Given the description of an element on the screen output the (x, y) to click on. 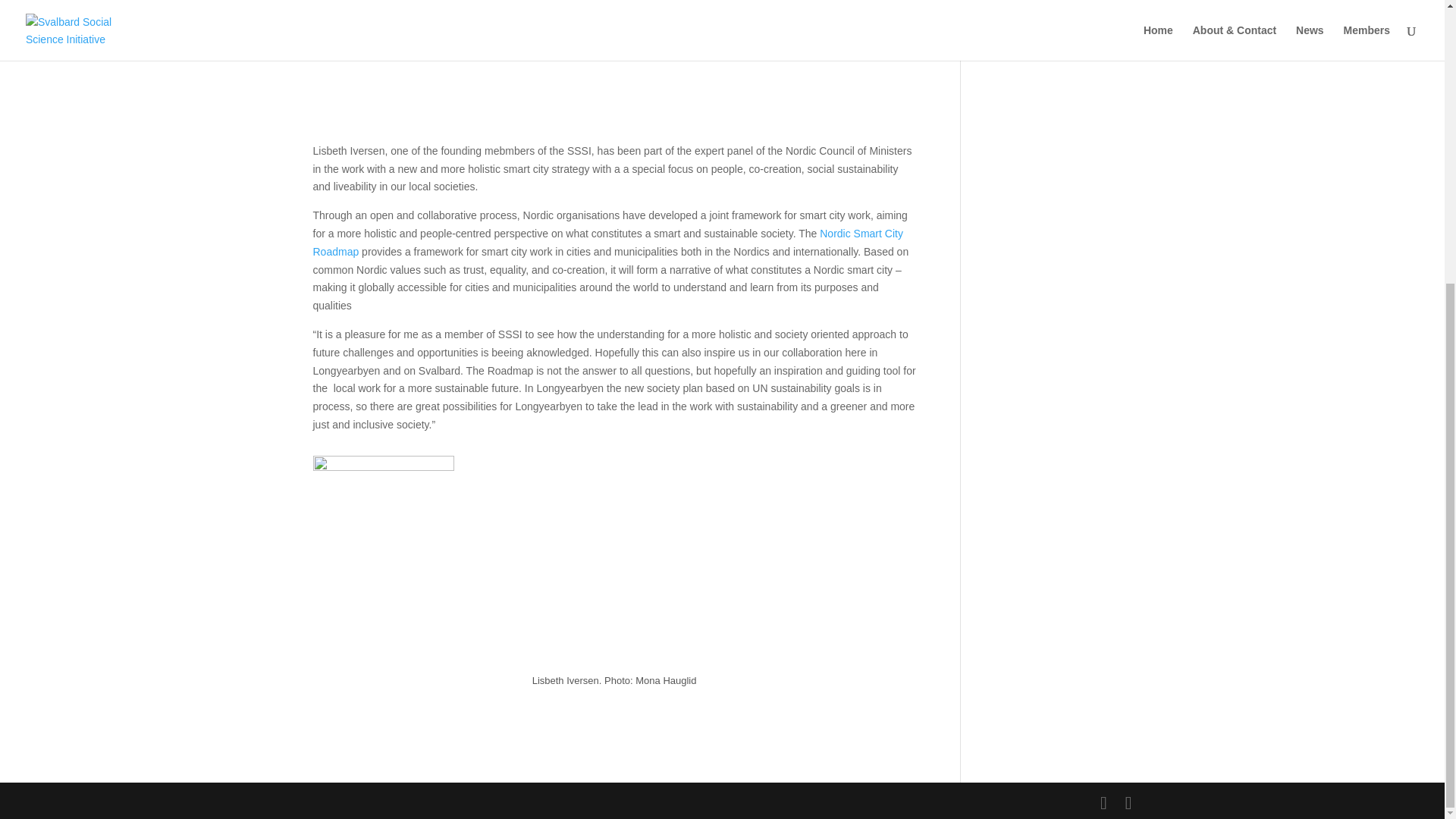
Nordic Smart City Roadmap (607, 242)
